Given the description of an element on the screen output the (x, y) to click on. 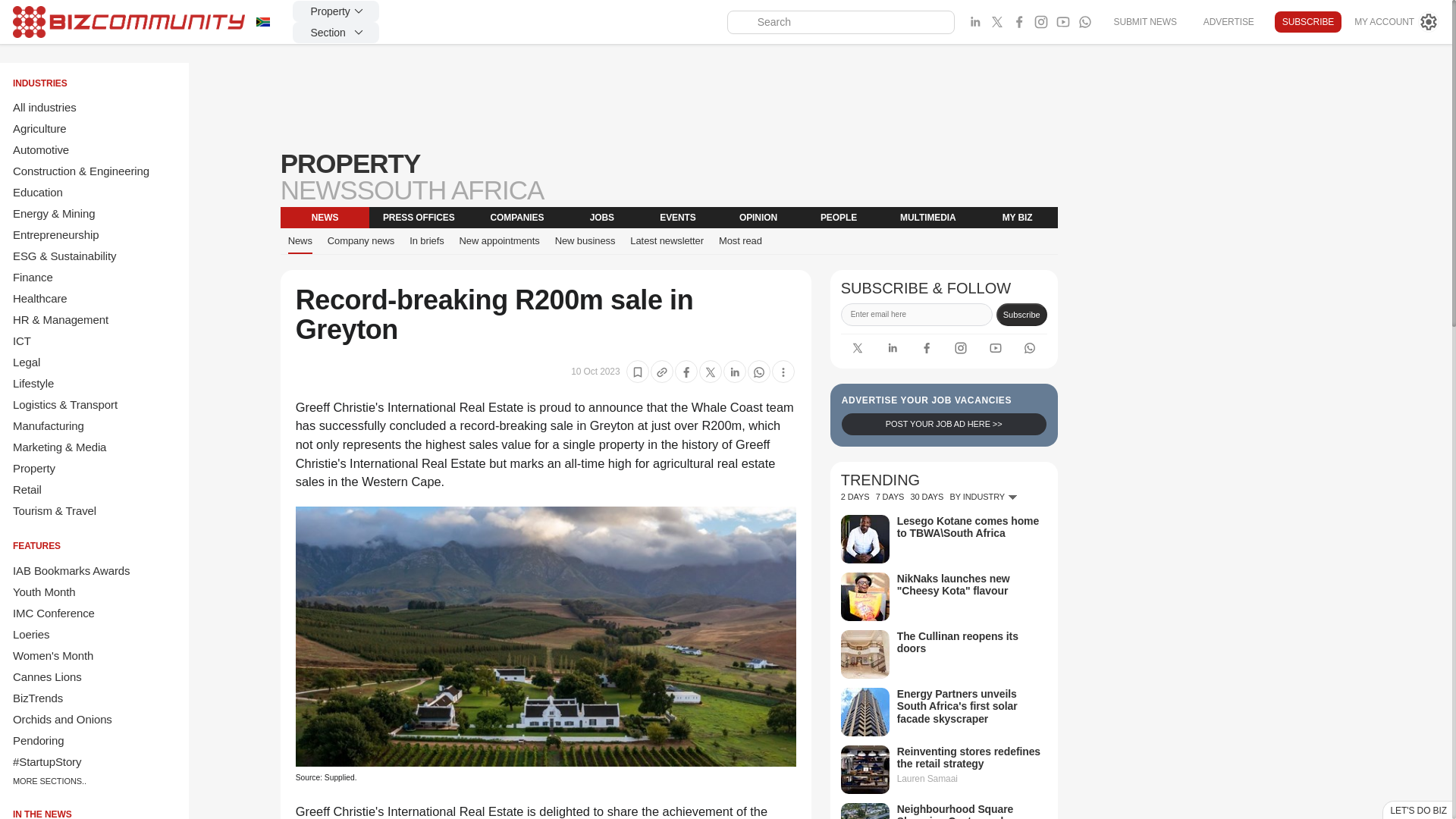
MY ACCOUNT (1396, 21)
Bizcommunity youtube (1062, 22)
Bizcommunity facebook (926, 347)
Bizcommunity instagram (1040, 22)
Bizcommunity linked (975, 22)
ADVERTISE (1228, 21)
Property (335, 11)
Bizcommunity instagram (960, 347)
SUBSCRIBE (1307, 21)
Bizcommunity linked (892, 347)
Section (335, 32)
Bizcommunity facebook (1084, 22)
Bizcommunity facebook (1018, 22)
SUBMIT NEWS (1144, 21)
